Given the description of an element on the screen output the (x, y) to click on. 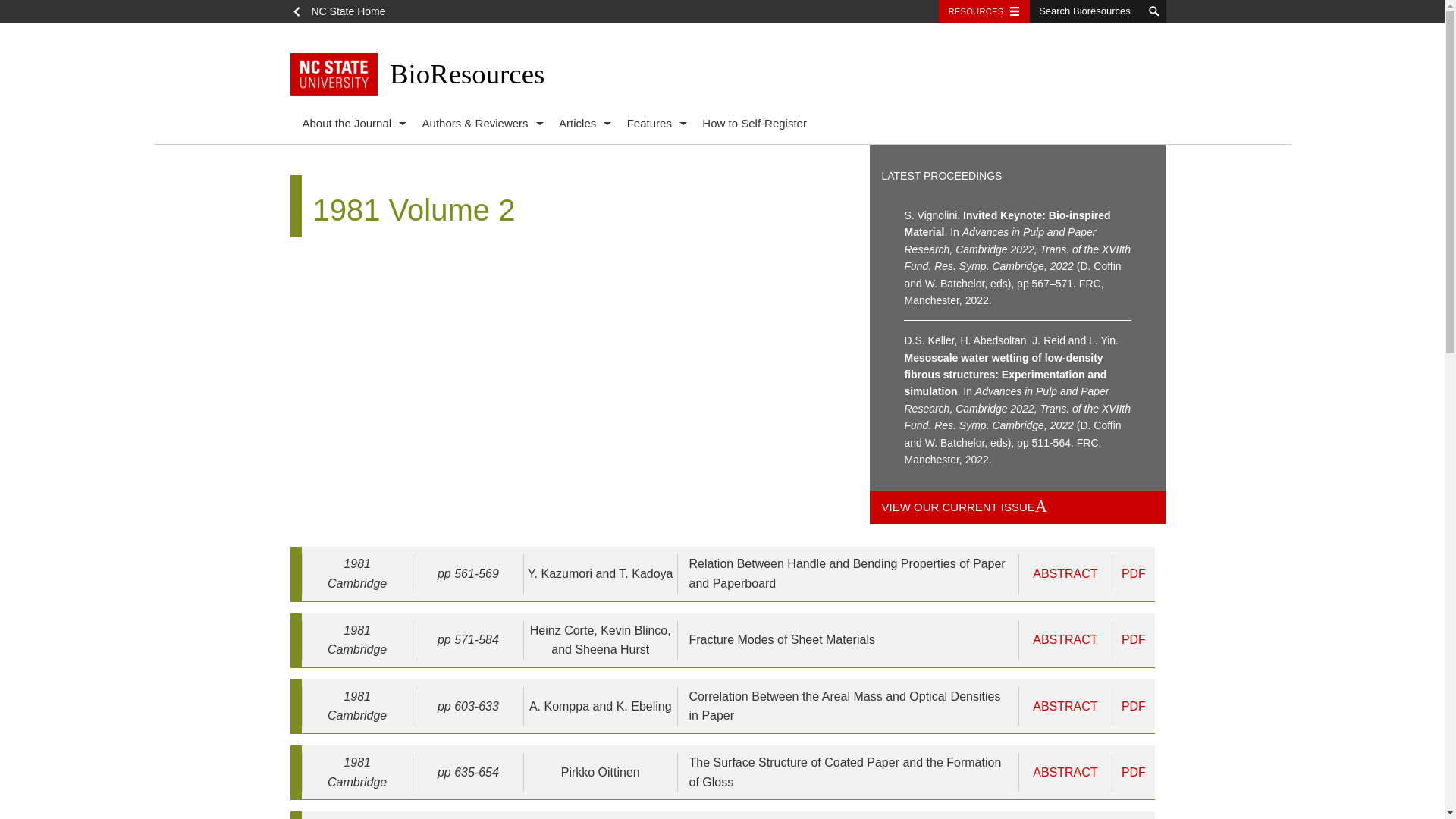
About the Journal (346, 123)
search (1154, 11)
search (1154, 11)
search (1154, 11)
RESOURCES (984, 11)
NC State Home (342, 11)
Invited Keynote: Bio-inspired Material (1017, 258)
